Given the description of an element on the screen output the (x, y) to click on. 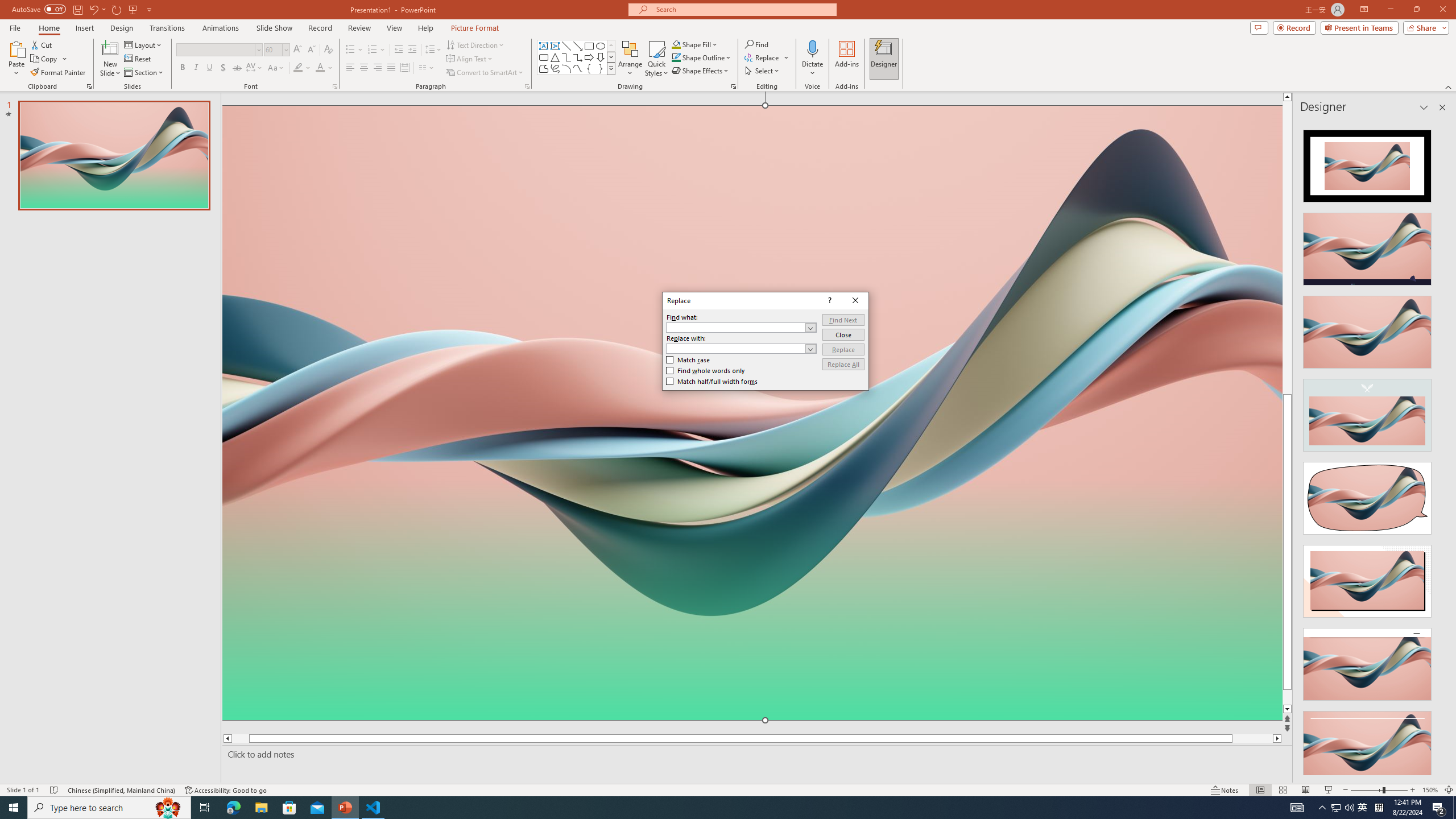
Replace with (740, 348)
Match half/full width forms (711, 381)
